Given the description of an element on the screen output the (x, y) to click on. 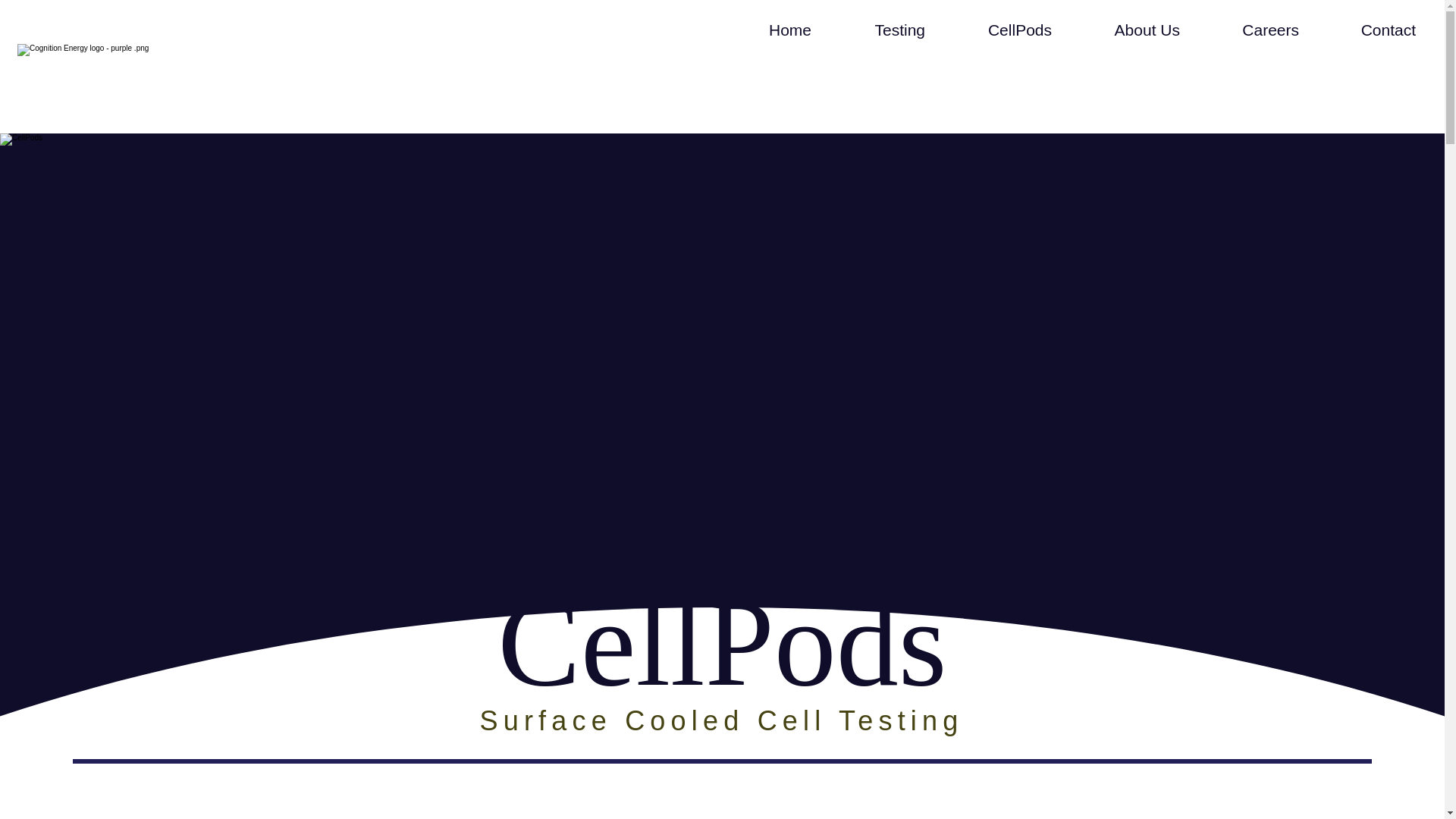
Home (765, 30)
Careers (1247, 30)
Contact (1364, 30)
Testing (875, 30)
CellPods (996, 30)
About Us (1123, 30)
